Given the description of an element on the screen output the (x, y) to click on. 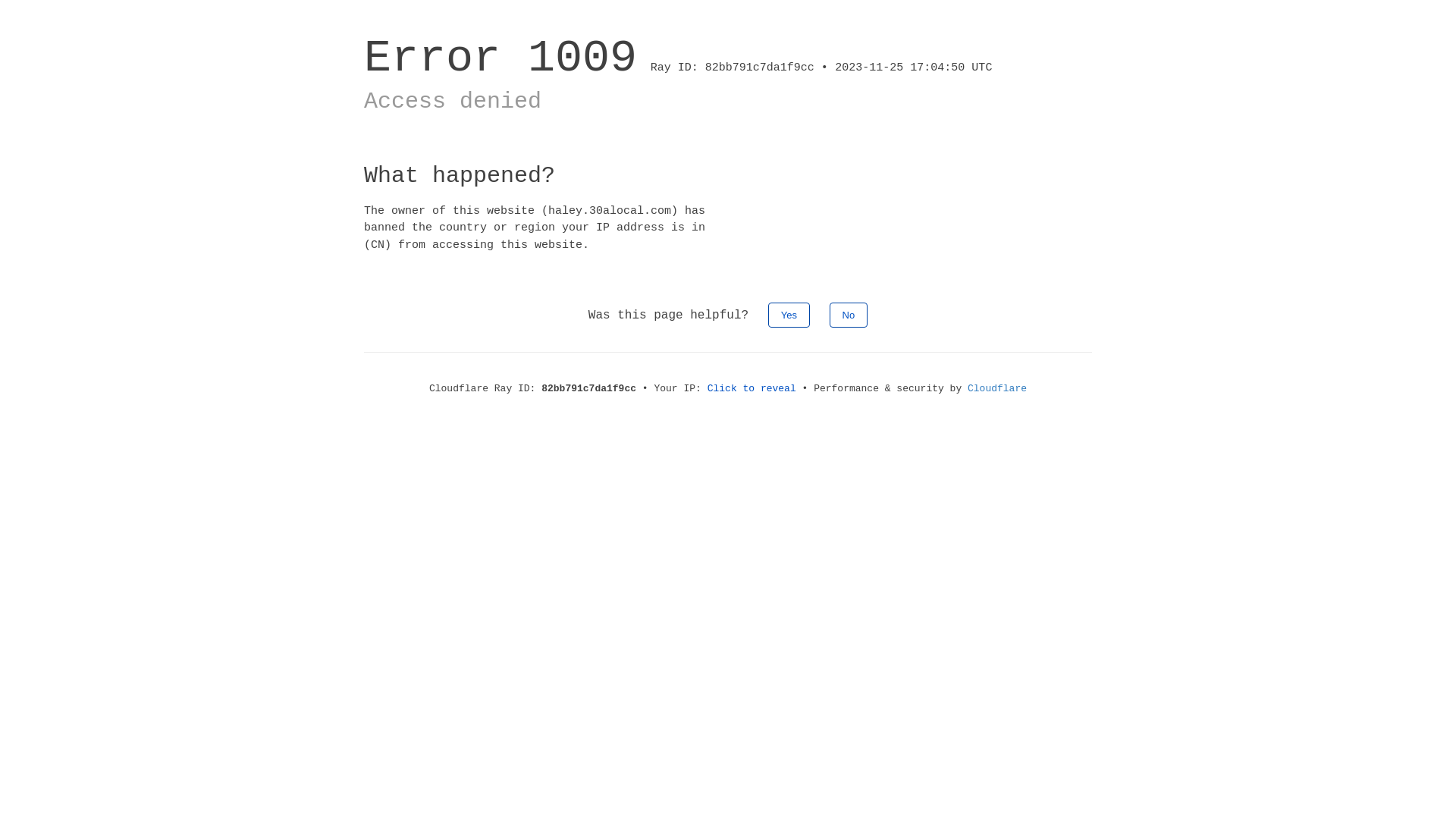
Click to reveal Element type: text (751, 388)
Yes Element type: text (788, 314)
No Element type: text (848, 314)
Cloudflare Element type: text (996, 388)
